Given the description of an element on the screen output the (x, y) to click on. 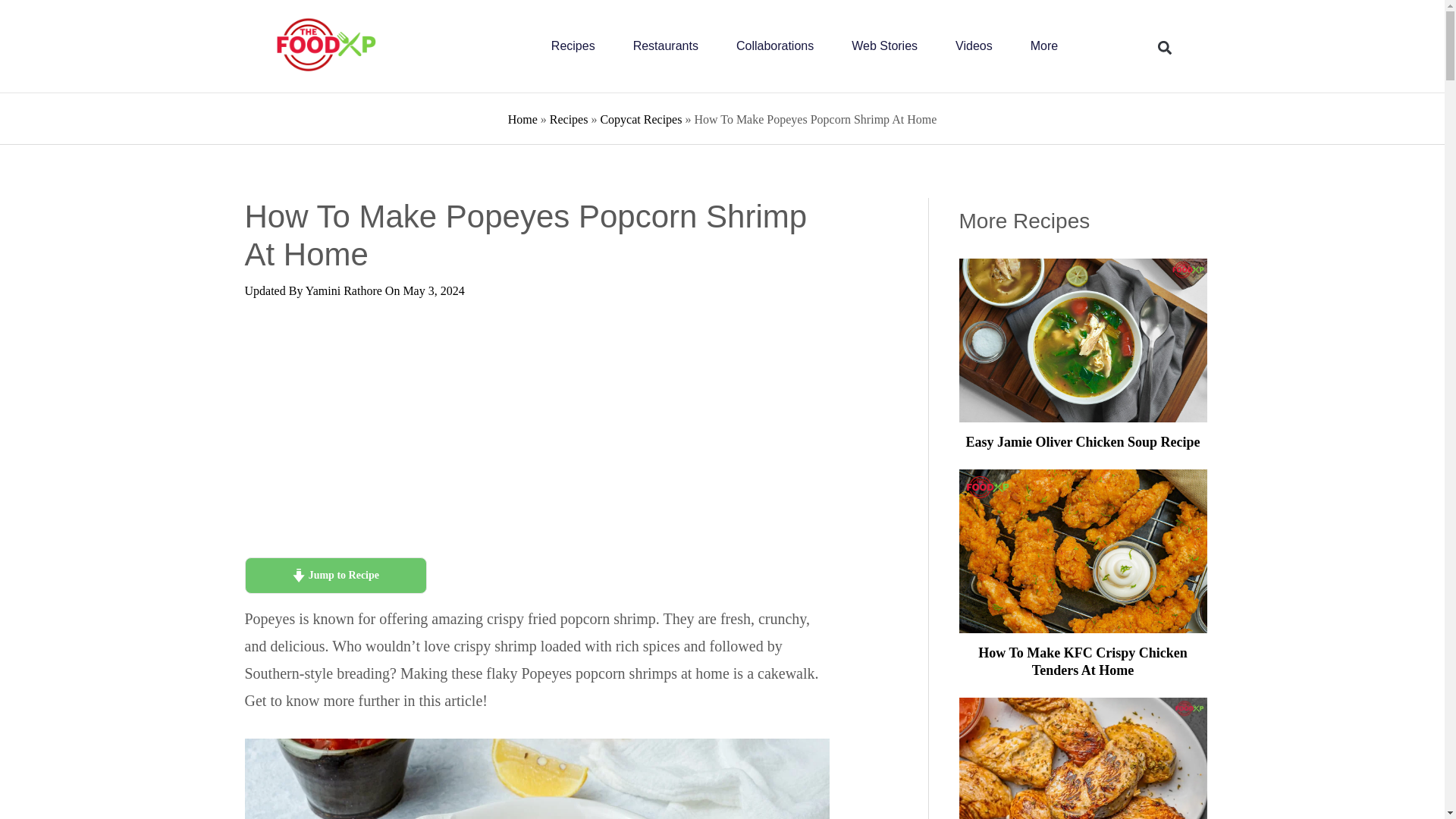
Jump to Recipe (335, 575)
Web Stories (884, 45)
Recipes (573, 45)
Videos (973, 45)
More (1044, 45)
Restaurants (665, 45)
Collaborations (774, 45)
